Given the description of an element on the screen output the (x, y) to click on. 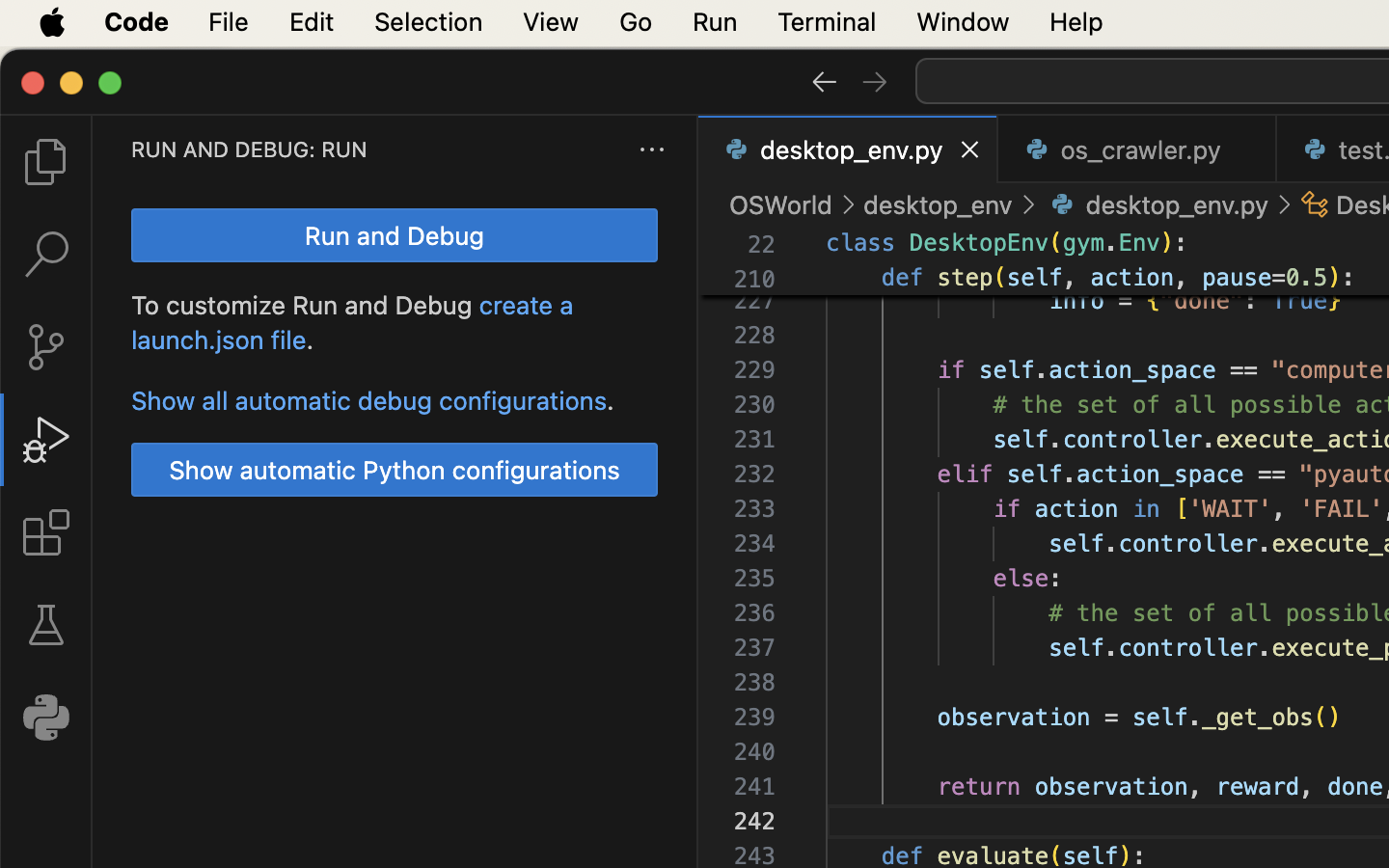
action Element type: AXStaticText (1131, 277)
RUN AND DEBUG: RUN Element type: AXStaticText (249, 149)
210 Element type: AXStaticText (754, 279)
gym Element type: AXStaticText (1083, 242)
, Element type: AXStaticText (1076, 277)
